Given the description of an element on the screen output the (x, y) to click on. 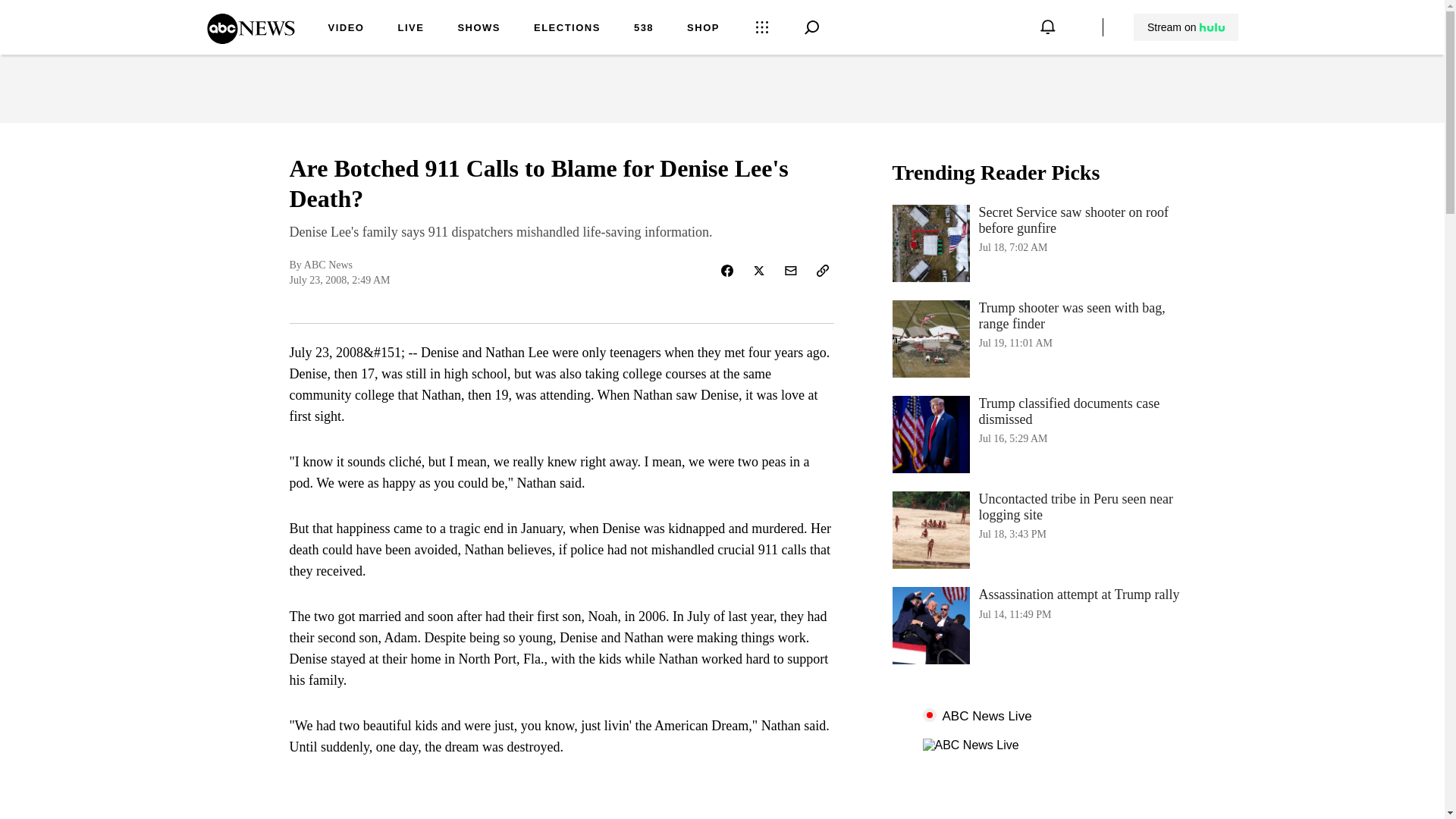
Stream on (1185, 27)
VIDEO (1043, 434)
ELECTIONS (345, 28)
ABC News (566, 28)
Stream on (250, 38)
LIVE (1186, 26)
538 (410, 28)
SHOWS (643, 28)
SHOP (478, 28)
